Given the description of an element on the screen output the (x, y) to click on. 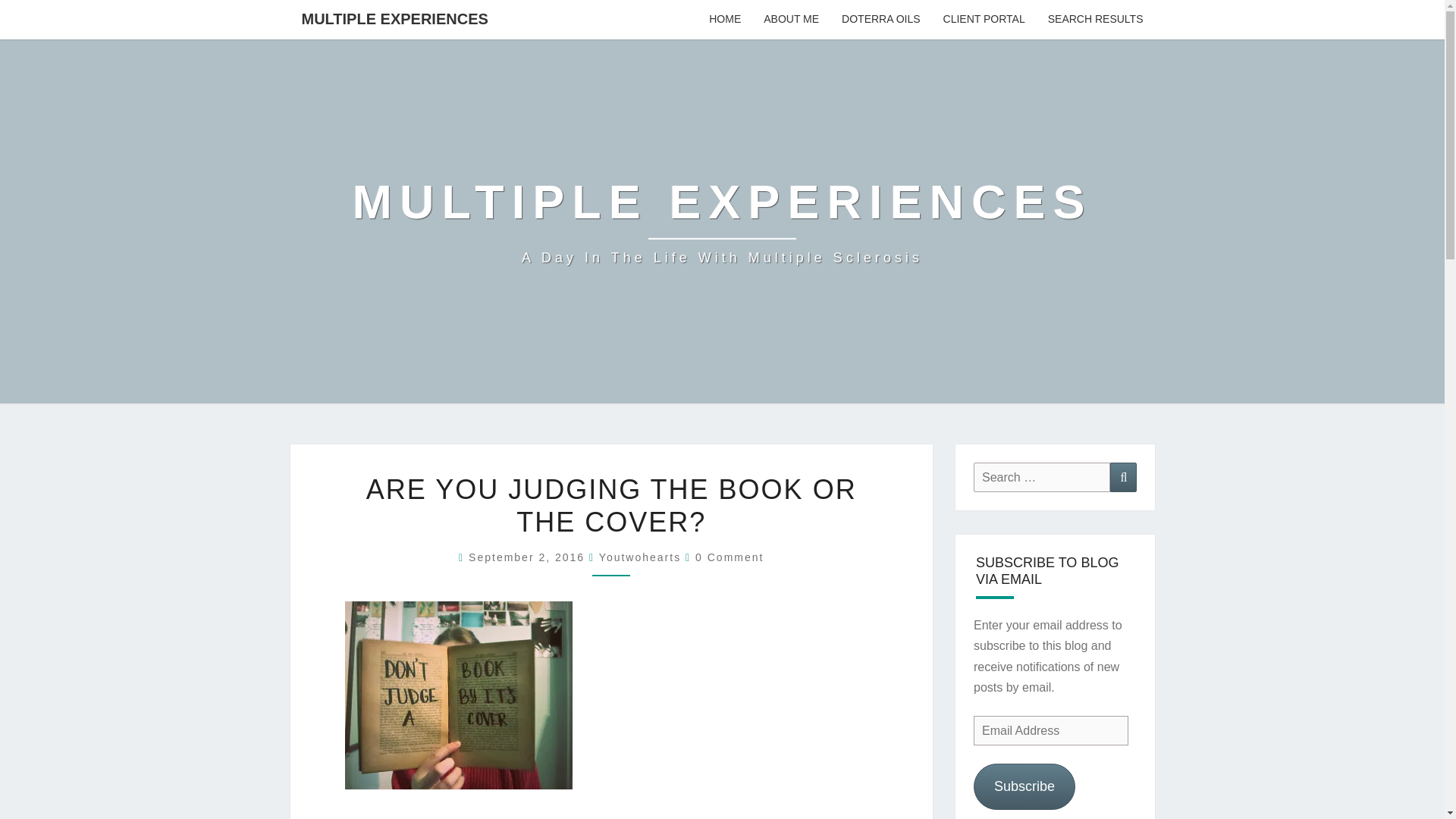
0 Comment (728, 557)
Youtwohearts (639, 557)
CLIENT PORTAL (983, 19)
Subscribe (1024, 786)
Search for: (1041, 477)
View all posts by Youtwohearts (639, 557)
September 2, 2016 (528, 557)
12:07 pm (528, 557)
MULTIPLE EXPERIENCES (394, 18)
Search (1123, 477)
HOME (724, 19)
DOTERRA OILS (880, 19)
Multiple experienceS (722, 221)
ABOUT ME (790, 19)
